Given the description of an element on the screen output the (x, y) to click on. 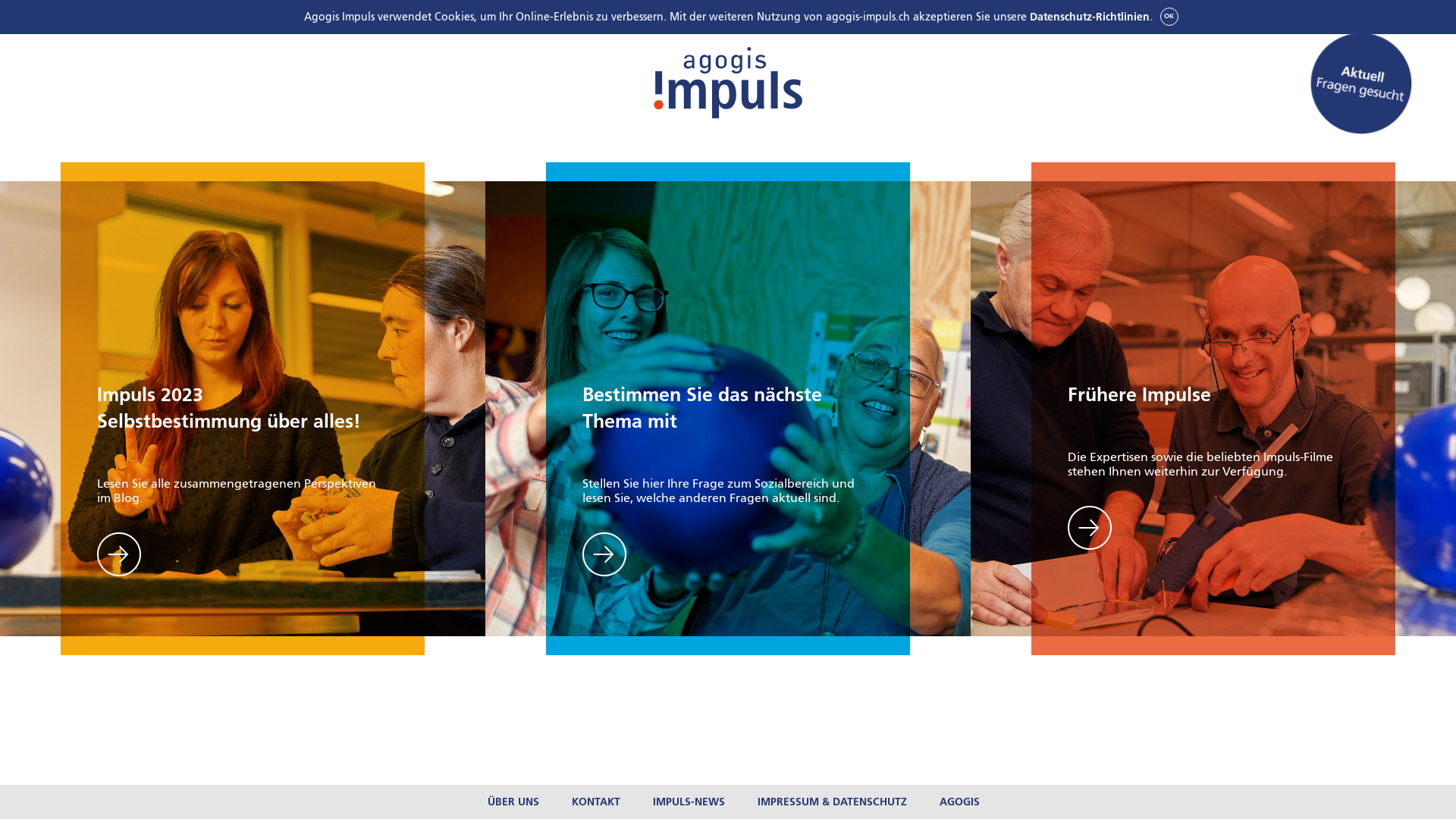
IMPULS-NEWS Element type: text (688, 801)
KONTAKT Element type: text (595, 801)
IMPRESSUM & DATENSCHUTZ Element type: text (831, 801)
AGOGIS Element type: text (959, 801)
Datenschutz-Richtlinien Element type: text (1089, 16)
